Given the description of an element on the screen output the (x, y) to click on. 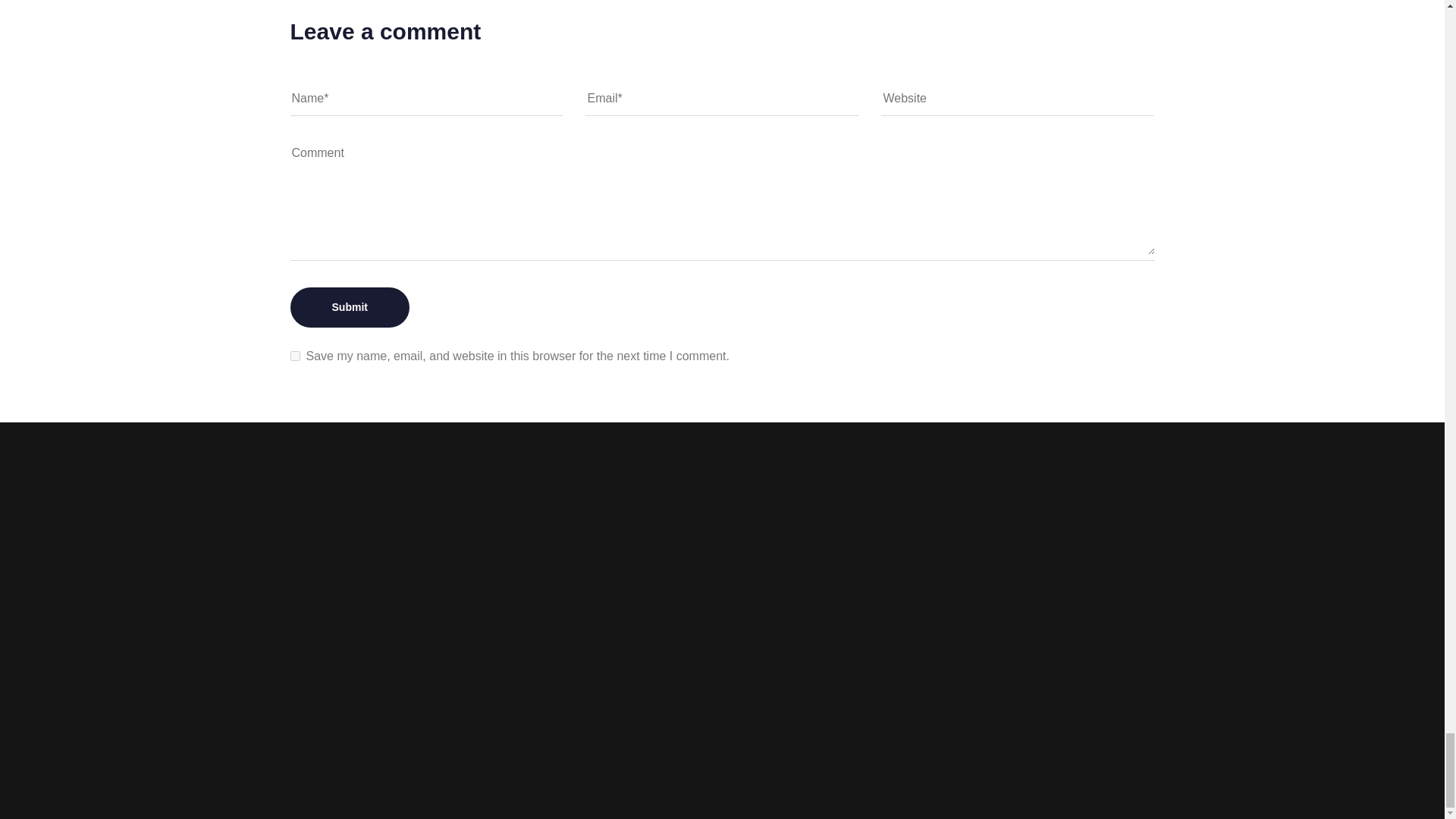
Submit (349, 307)
Submit (349, 307)
yes (294, 356)
